Given the description of an element on the screen output the (x, y) to click on. 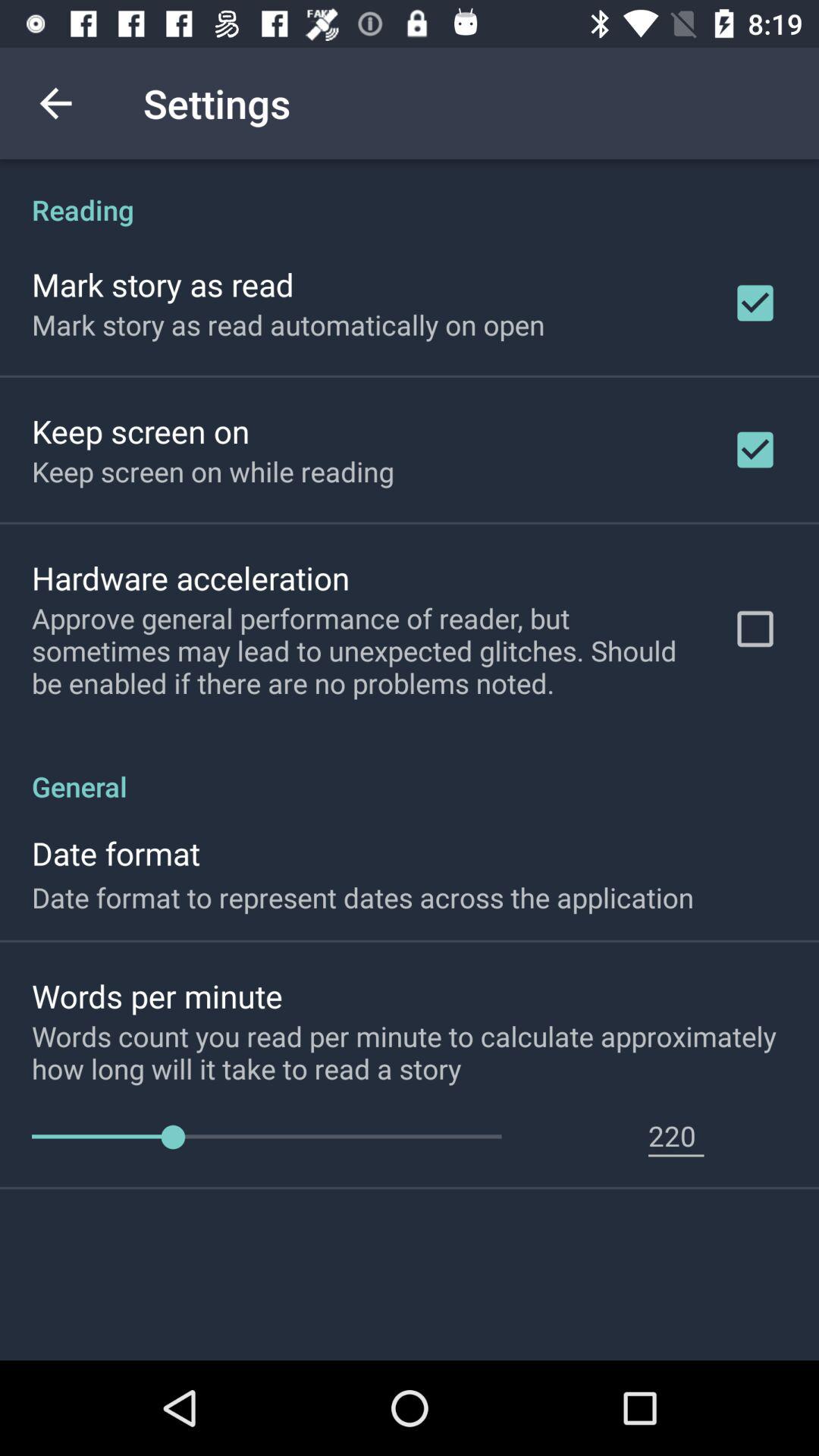
choose the item below the keep screen on icon (190, 577)
